Given the description of an element on the screen output the (x, y) to click on. 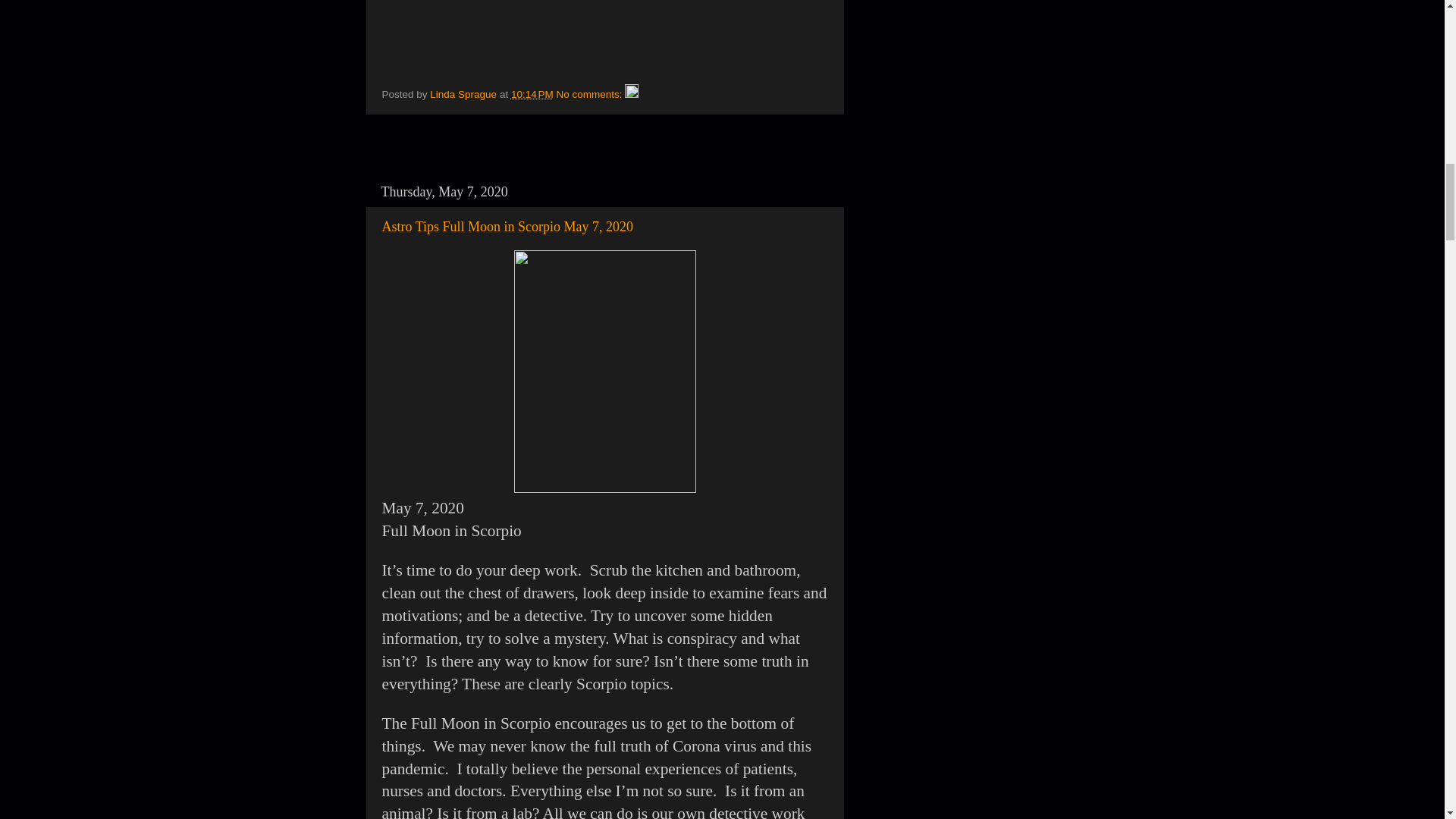
No comments: (591, 93)
permanent link (532, 93)
author profile (464, 93)
Linda Sprague (464, 93)
Advertisement (557, 152)
Edit Post (631, 93)
Astro Tips Full Moon in Scorpio May 7, 2020 (507, 226)
